Given the description of an element on the screen output the (x, y) to click on. 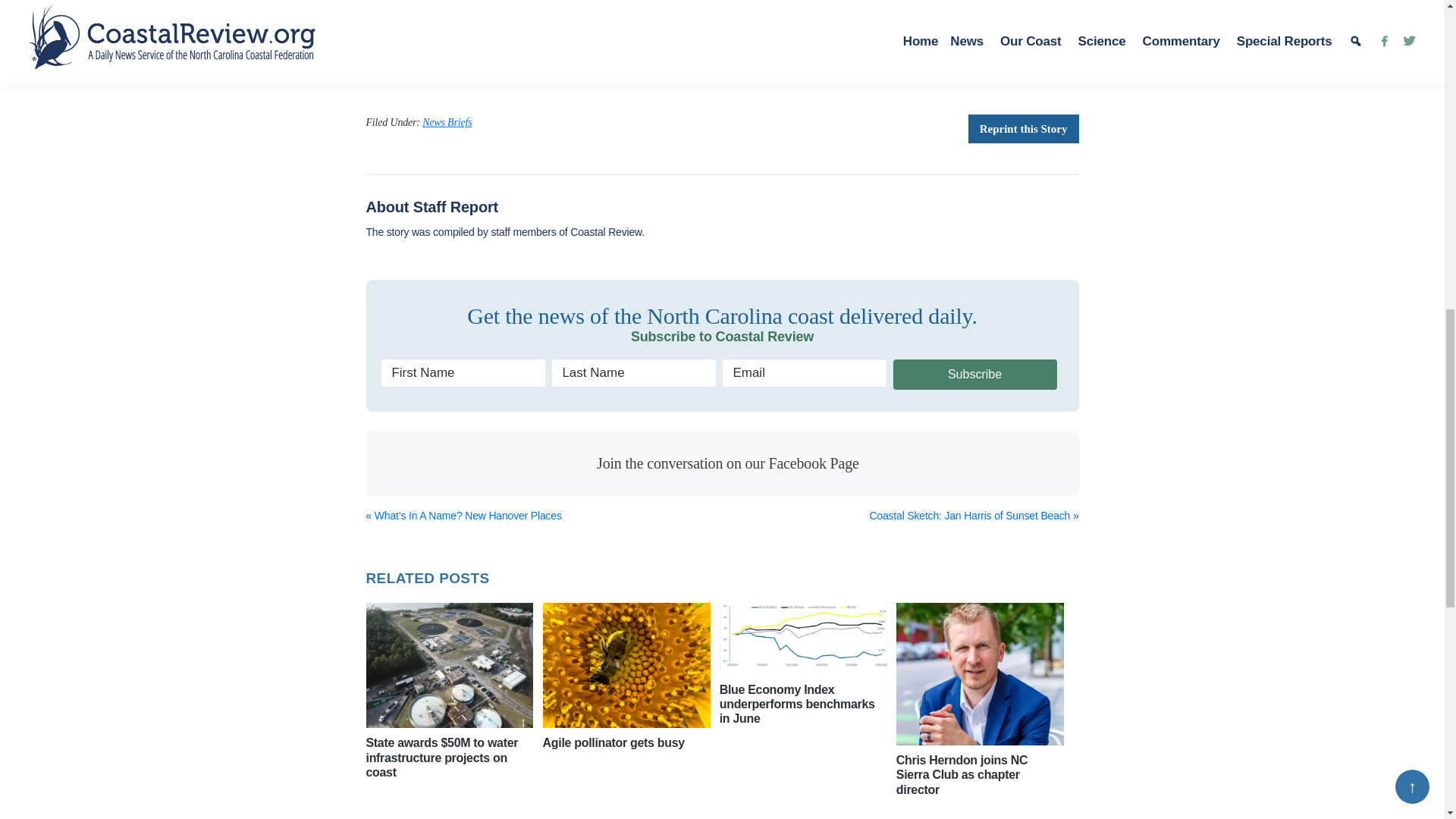
Subscribe (975, 374)
Permanent Link to Agile pollinator gets busy (626, 665)
Email (477, 73)
PrintFriendly (508, 73)
Twitter (413, 73)
Facebook (381, 73)
Google Classroom (445, 73)
Permanent Link to Agile pollinator gets busy (613, 742)
